Given the description of an element on the screen output the (x, y) to click on. 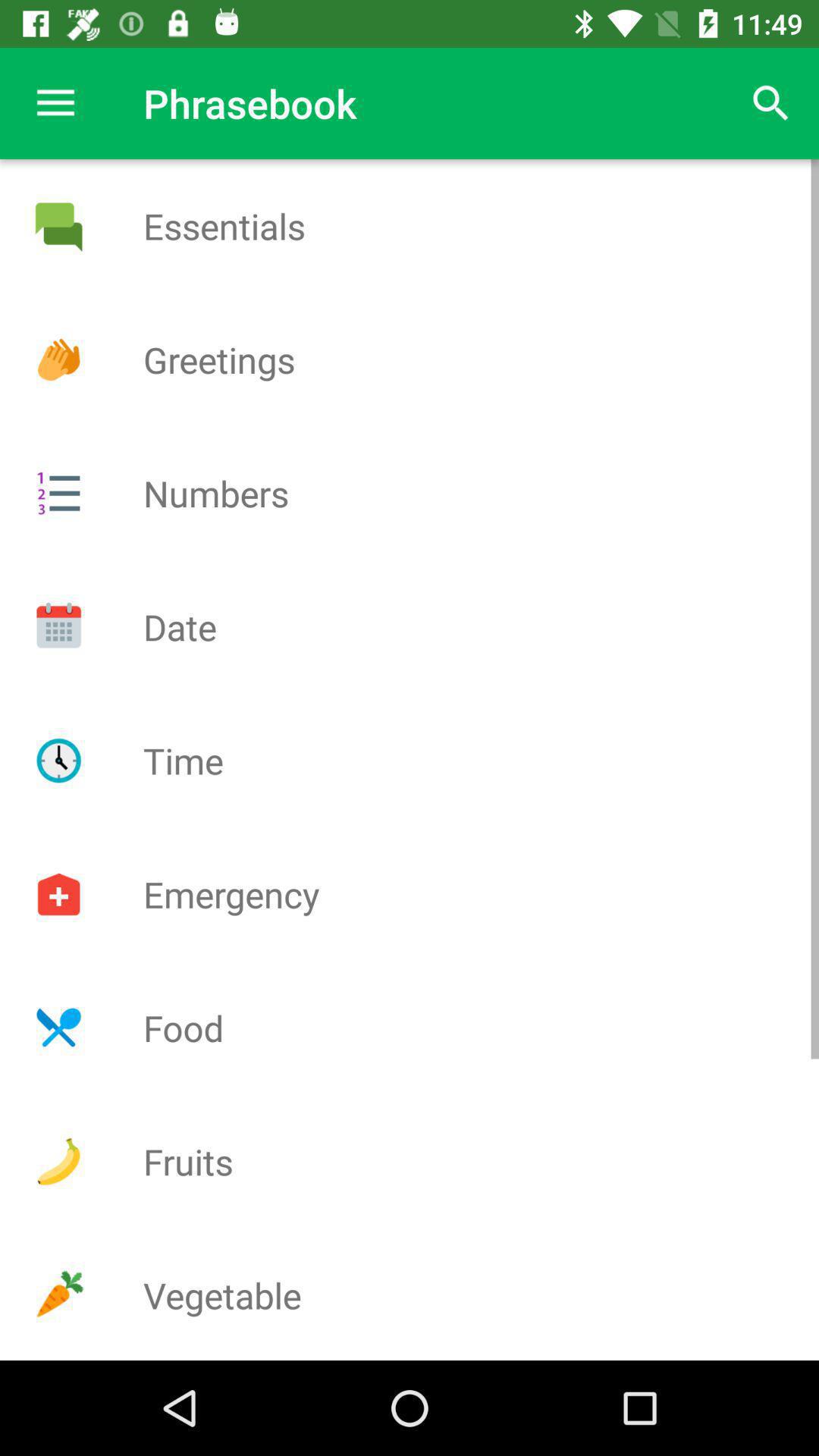
message button (58, 226)
